Given the description of an element on the screen output the (x, y) to click on. 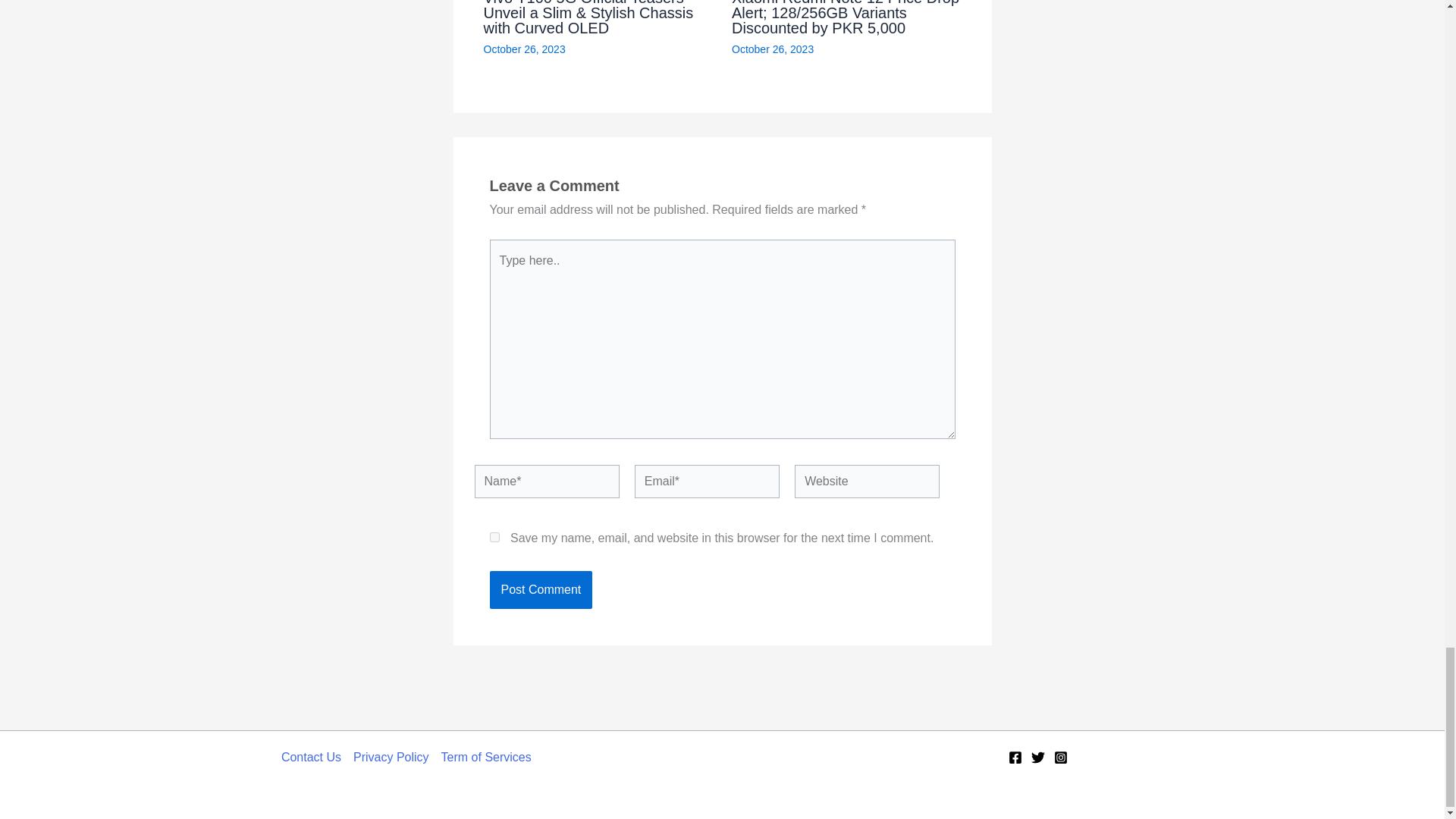
yes (494, 537)
Post Comment (540, 589)
